Given the description of an element on the screen output the (x, y) to click on. 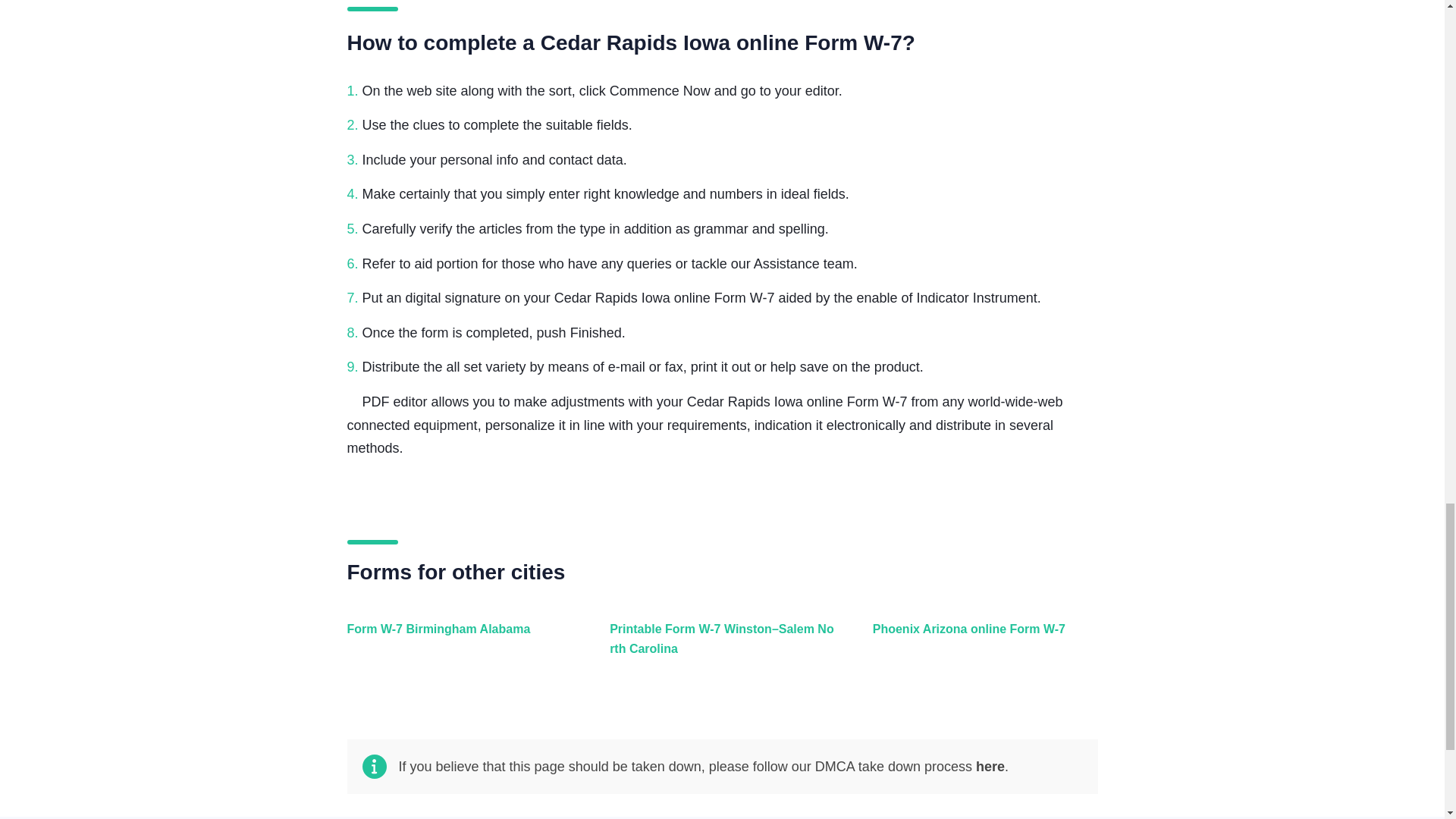
here (989, 766)
Phoenix Arizona online Form W-7 (981, 646)
Form W-7 Birmingham Alabama (456, 646)
